Given the description of an element on the screen output the (x, y) to click on. 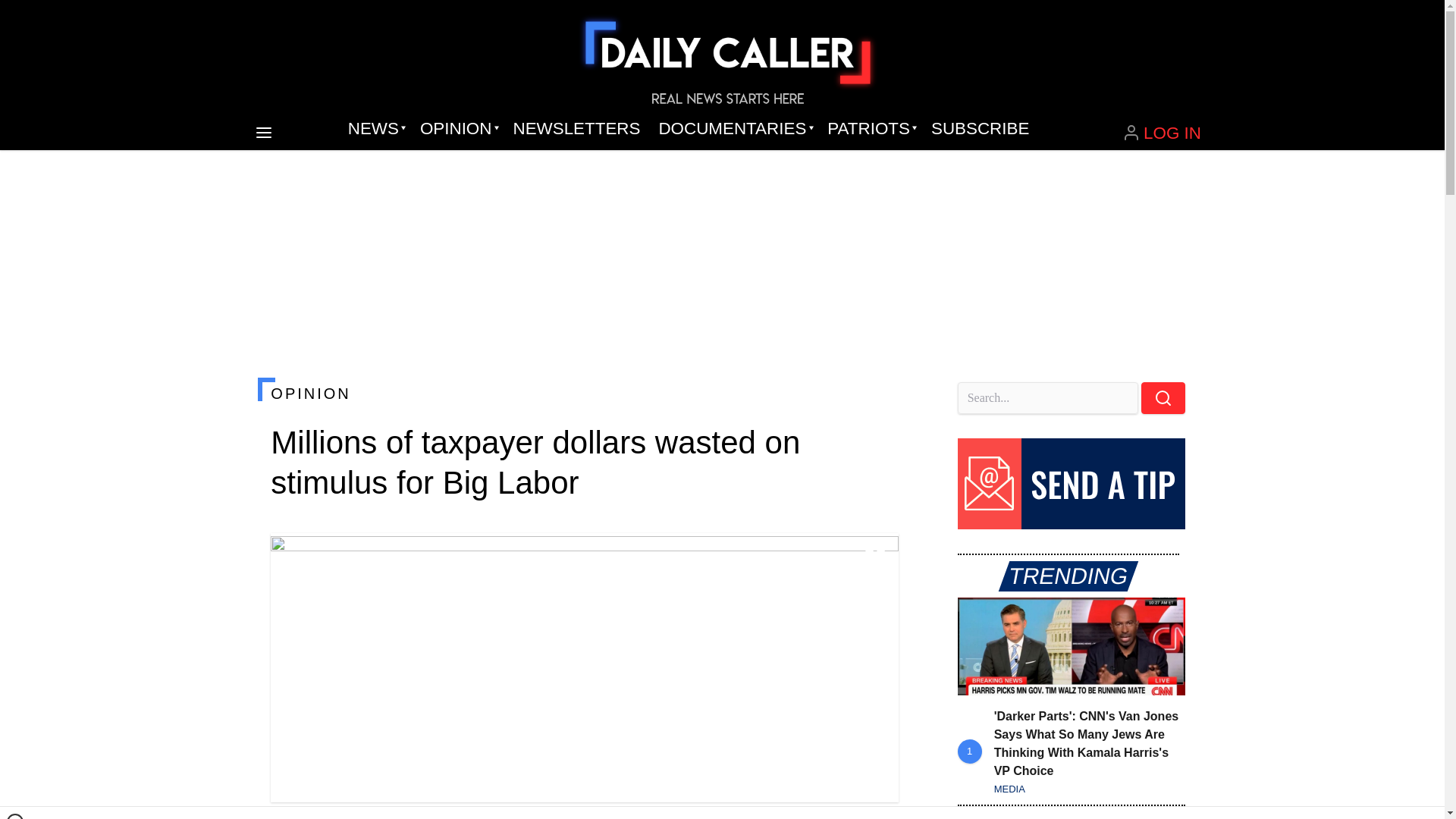
Close window (14, 816)
OPINION (584, 393)
DOCUMENTARIES (733, 128)
SUBSCRIBE (979, 128)
NEWS (374, 128)
OPINION (456, 128)
Toggle fullscreen (874, 556)
PATRIOTS (869, 128)
NEWSLETTERS (576, 128)
